Given the description of an element on the screen output the (x, y) to click on. 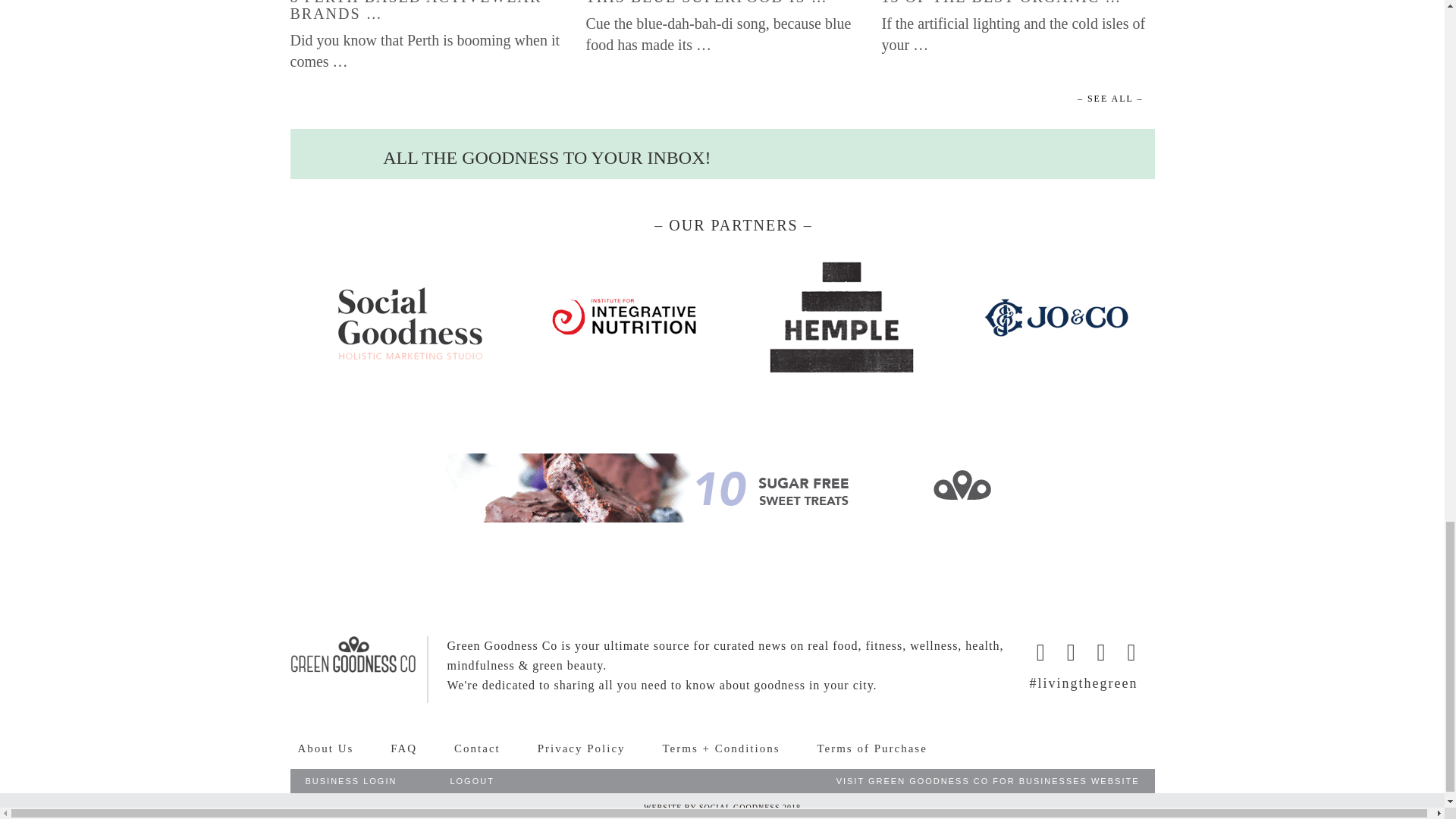
This Blue Superfood is Taking Over Perth (706, 2)
8 Perth Based Activewear Brands You Need to Know About (425, 11)
